Given the description of an element on the screen output the (x, y) to click on. 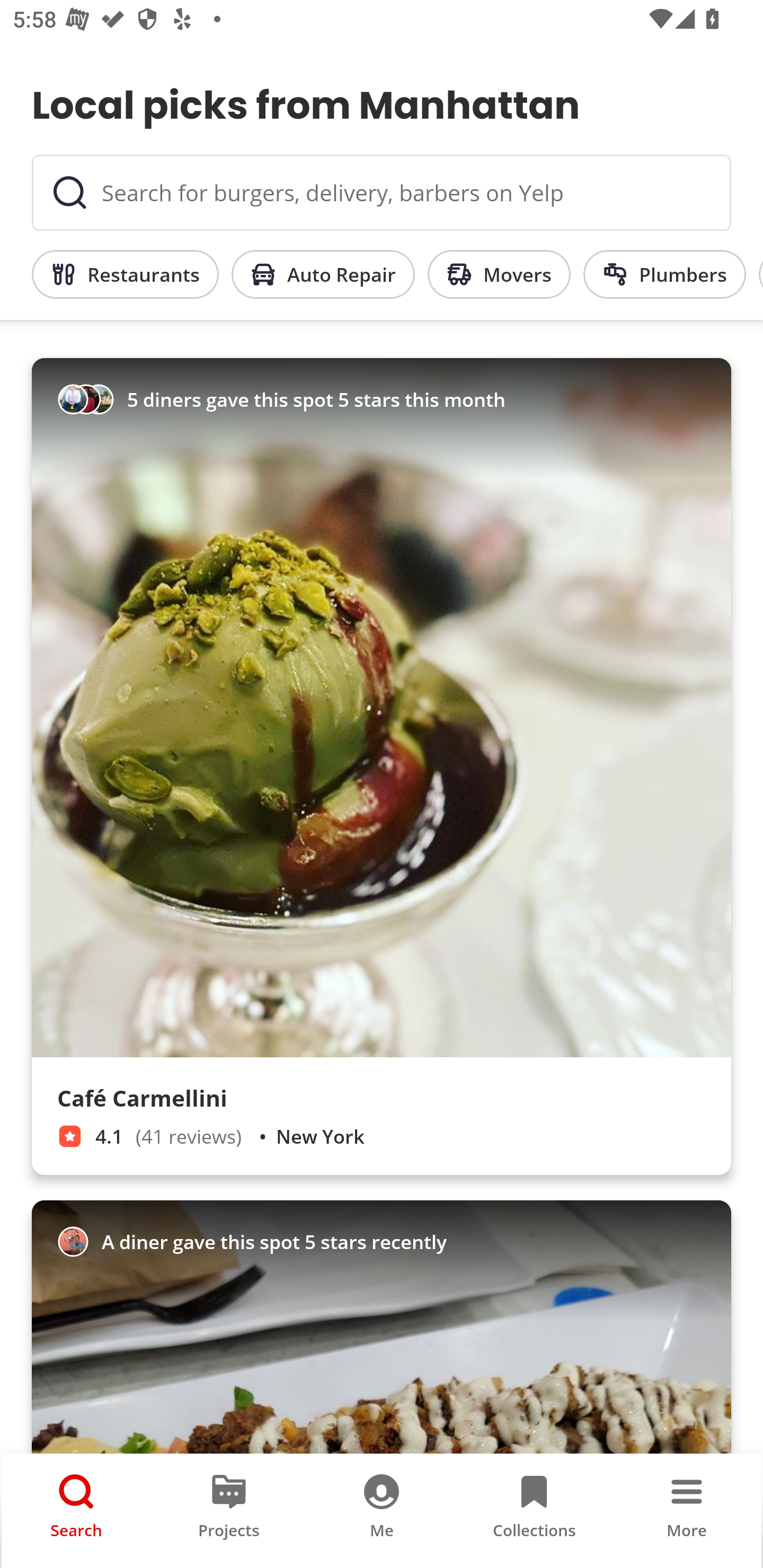
Search for burgers, delivery, barbers on Yelp (381, 192)
